Given the description of an element on the screen output the (x, y) to click on. 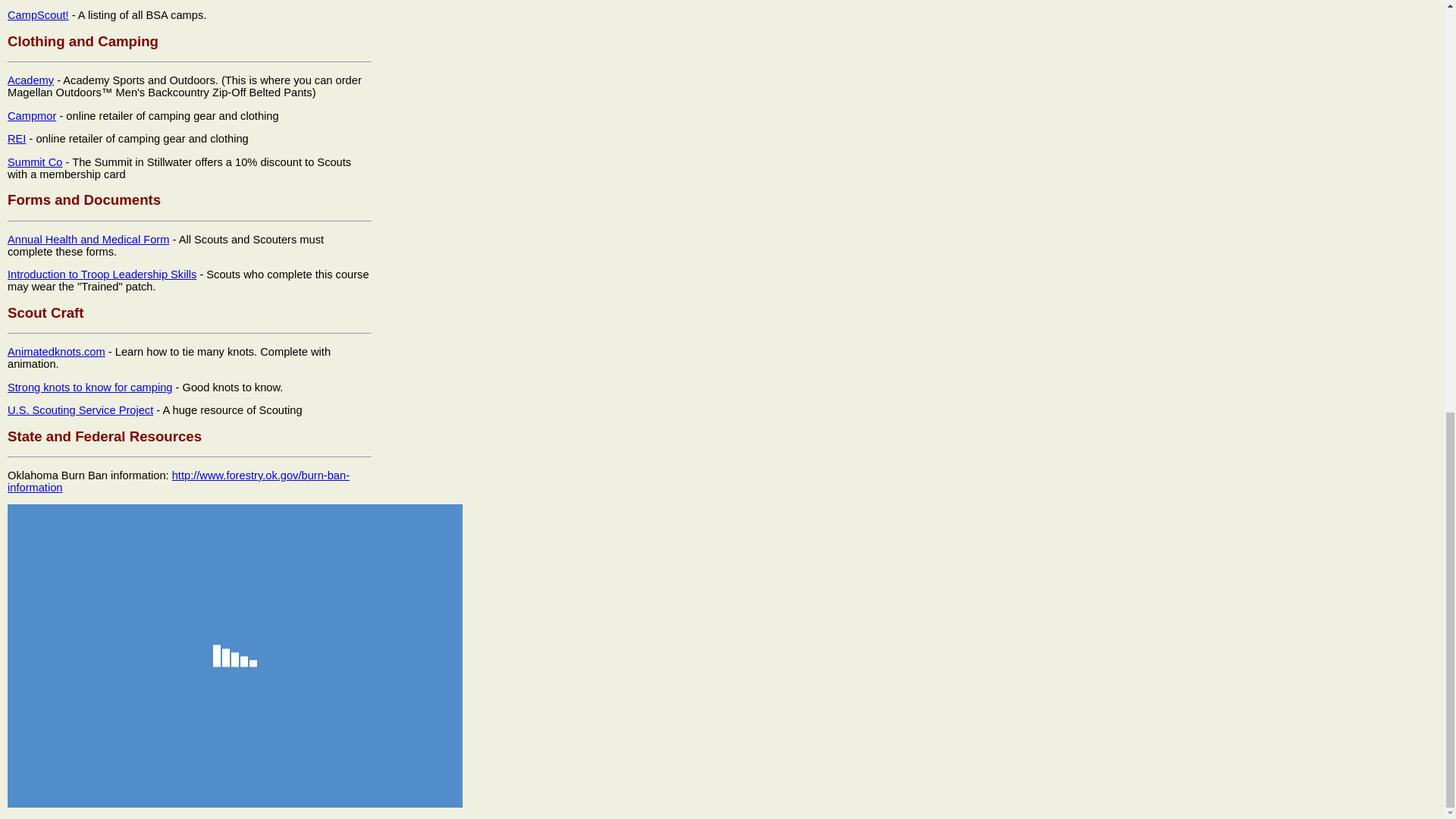
REI (16, 138)
Academy (30, 80)
Campmor (31, 115)
Summit Co (34, 162)
Introduction to Troop Leadership Skills (101, 274)
Animatedknots.com (55, 351)
Strong knots to know for camping (90, 387)
CampScout! (37, 15)
Annual Health and Medical Form (87, 239)
